Given the description of an element on the screen output the (x, y) to click on. 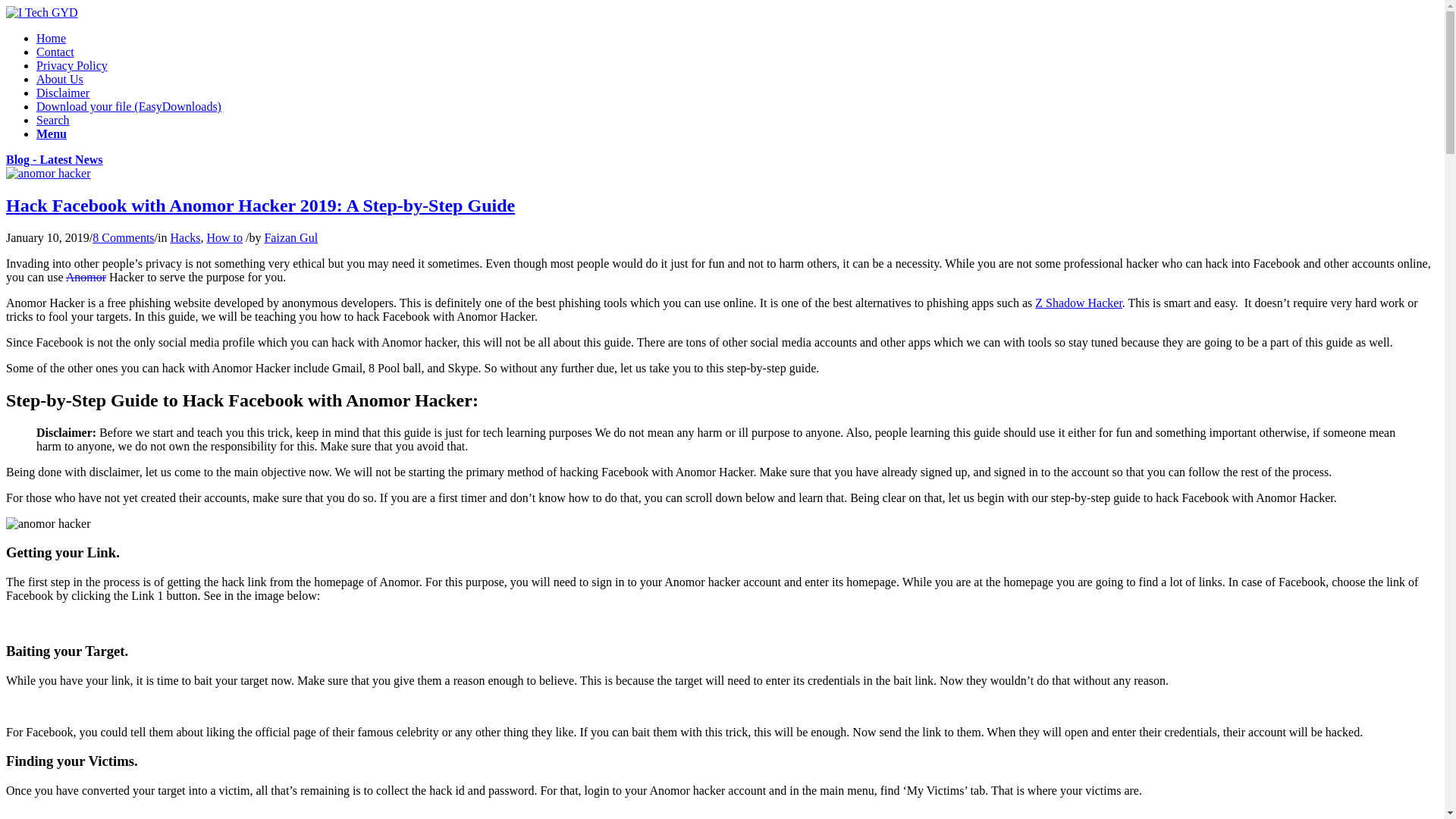
Search (52, 119)
Posts by Faizan Gul (290, 237)
Hacks (185, 237)
Privacy Policy (71, 65)
Faizan Gul (290, 237)
Z Shadow Hacker (1078, 302)
Anomor (85, 277)
Home (50, 38)
About Us (59, 78)
Hack Facebook with Anomor Hacker 2019: A Step-by-Step Guide (260, 205)
Permanent Link: Blog - Latest News (54, 159)
Blog - Latest News (54, 159)
8 Comments (123, 237)
Disclaimer (62, 92)
